Given the description of an element on the screen output the (x, y) to click on. 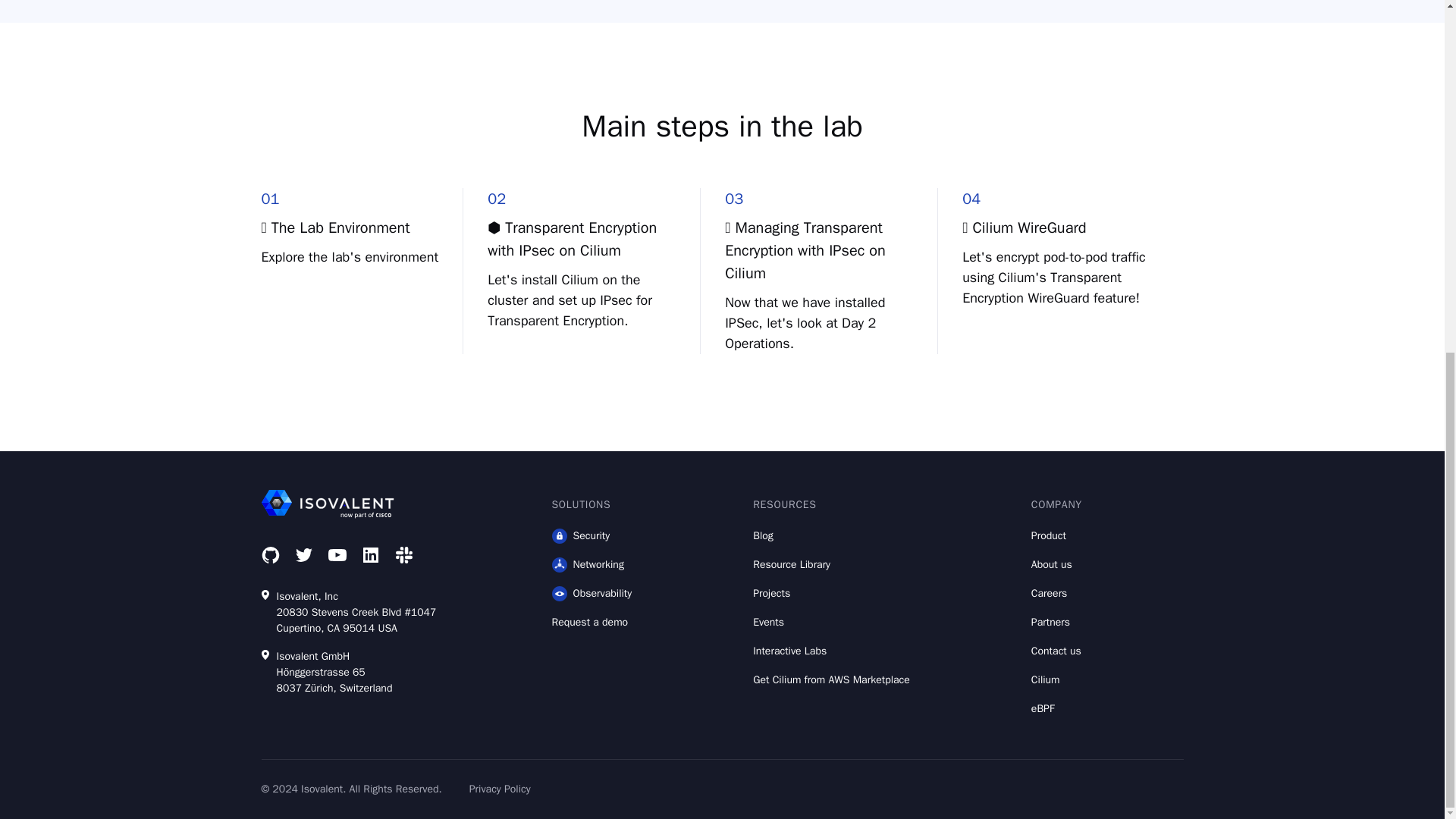
Projects (831, 593)
Interactive Labs (831, 651)
Observability (591, 593)
Events (831, 622)
Product (1055, 535)
Partners (1055, 622)
Get Cilium from AWS Marketplace (831, 679)
Blog (831, 535)
Isovalent Logo (366, 503)
Careers (1055, 593)
